Given the description of an element on the screen output the (x, y) to click on. 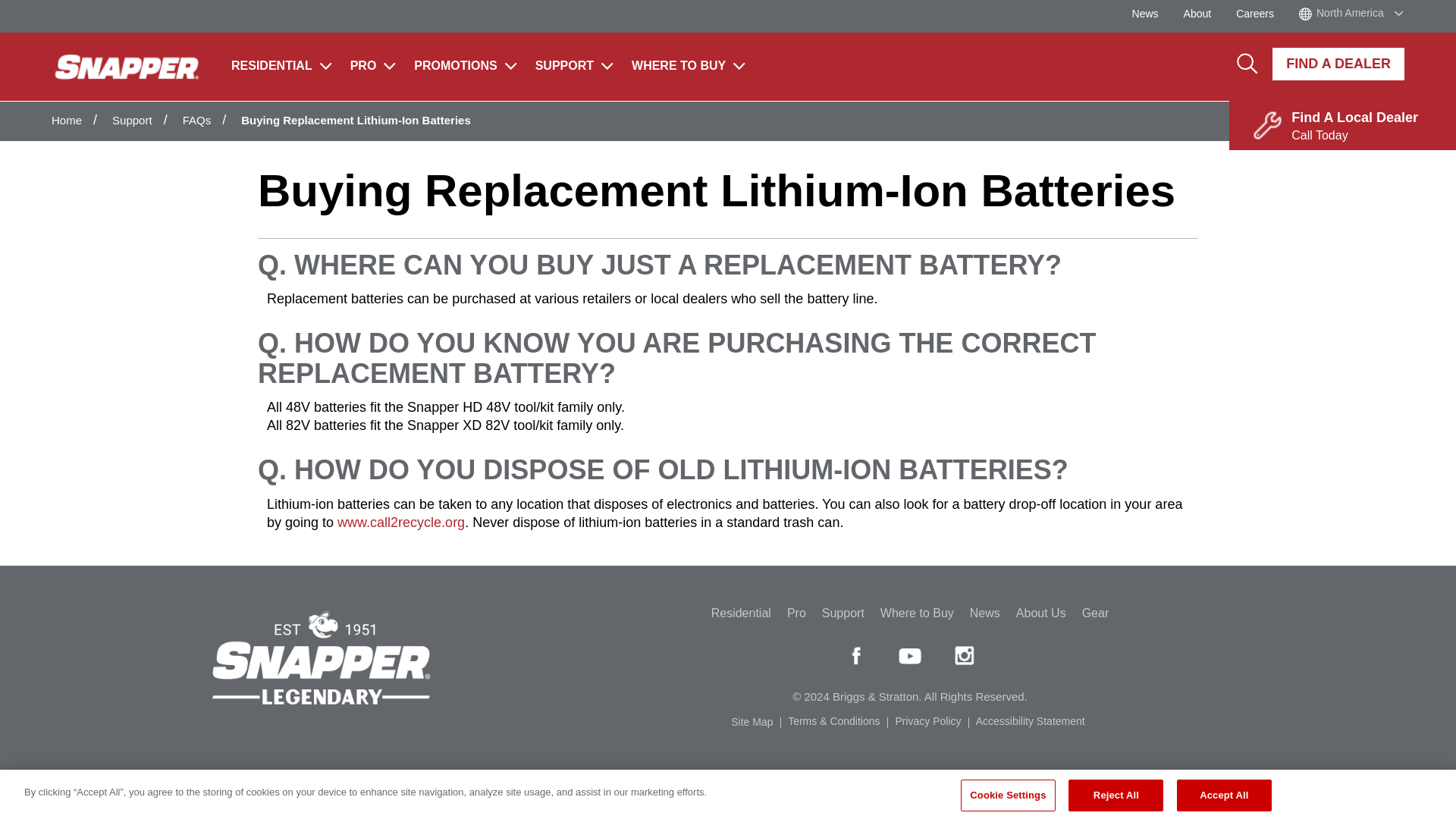
News (1155, 13)
RESIDENTIAL (281, 70)
Snapper (126, 66)
FIND A DEALER (1338, 64)
WHERE TO BUY (688, 70)
SUPPORT (574, 70)
Careers (1265, 13)
About (1208, 13)
PROMOTIONS (464, 70)
